Given the description of an element on the screen output the (x, y) to click on. 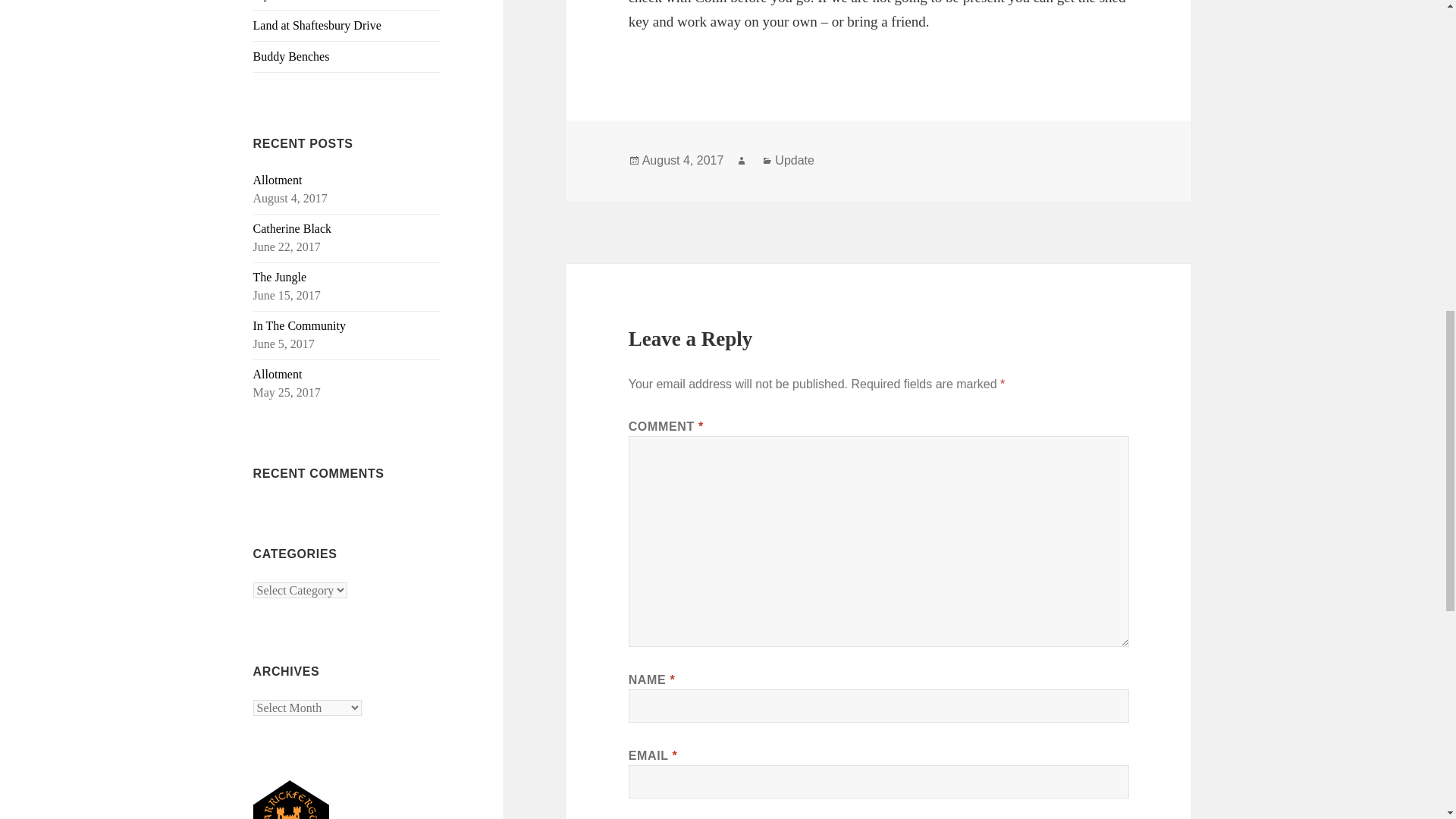
Buddy Benches (347, 56)
Land at Shaftesbury Drive (347, 25)
August 4, 2017 (682, 160)
Catherine Black (292, 228)
Allotment (277, 373)
The Jungle (280, 277)
In The Community (299, 325)
Update (793, 160)
My account (347, 4)
Allotment (277, 179)
